Given the description of an element on the screen output the (x, y) to click on. 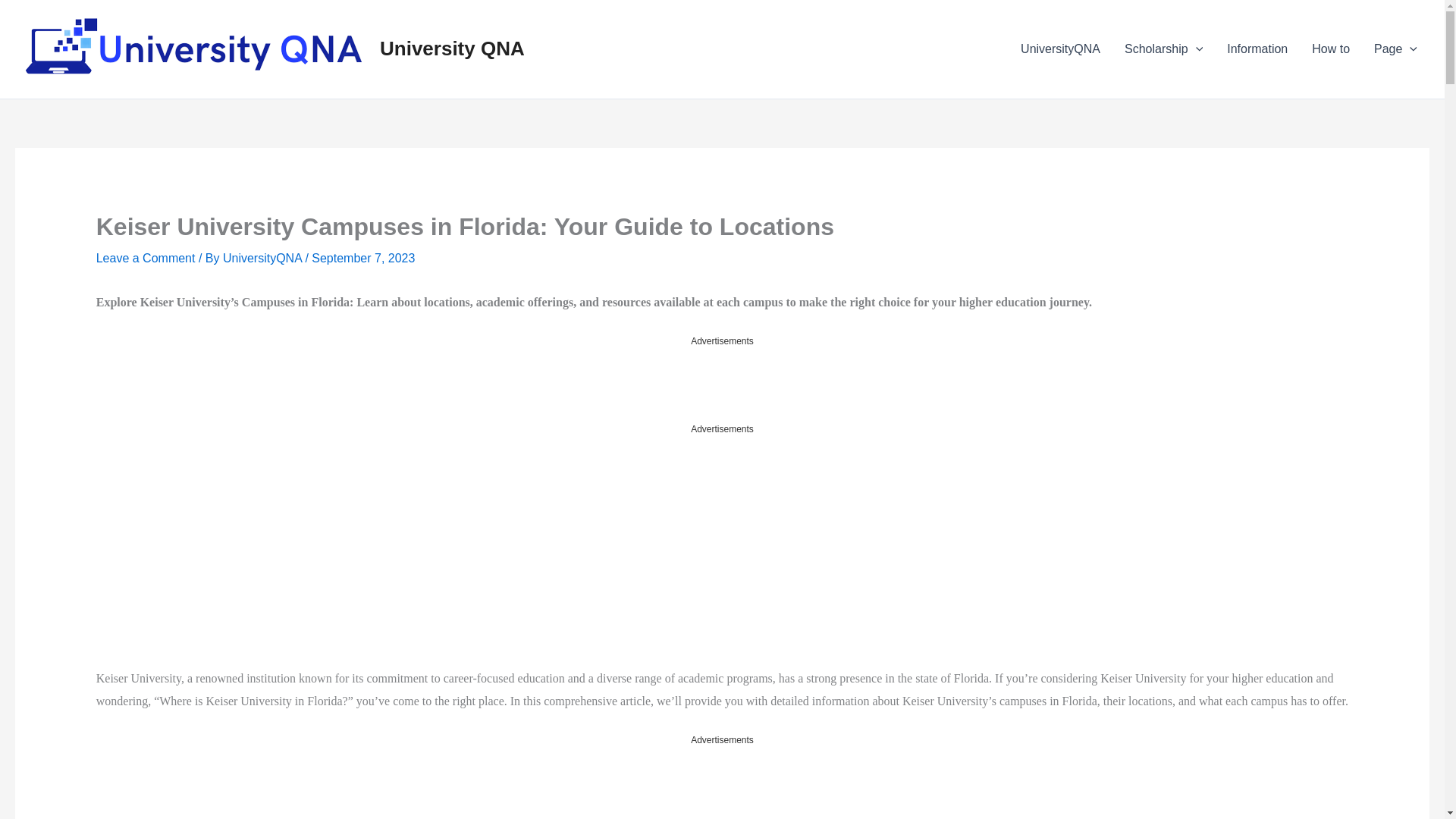
University QNA (452, 47)
UniversityQNA (1060, 48)
Scholarship (1163, 48)
Information (1257, 48)
UniversityQNA (263, 257)
View all posts by UniversityQNA (263, 257)
How to (1330, 48)
Advertisement (721, 782)
Leave a Comment (145, 257)
Advertisement (235, 551)
